Given the description of an element on the screen output the (x, y) to click on. 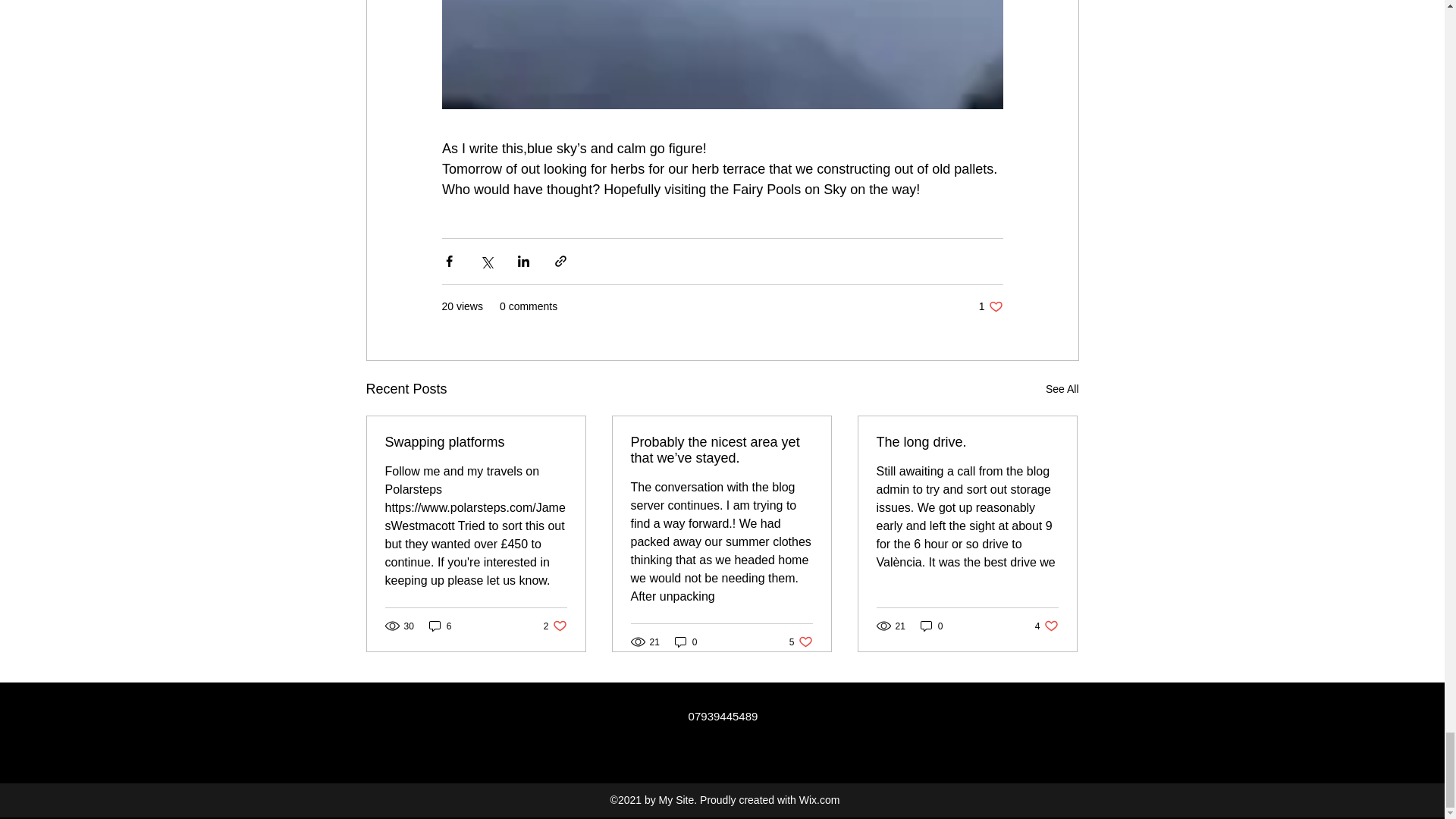
See All (1061, 389)
0 (931, 626)
0 (685, 641)
Swapping platforms (555, 626)
The long drive. (800, 641)
6 (476, 442)
